Given the description of an element on the screen output the (x, y) to click on. 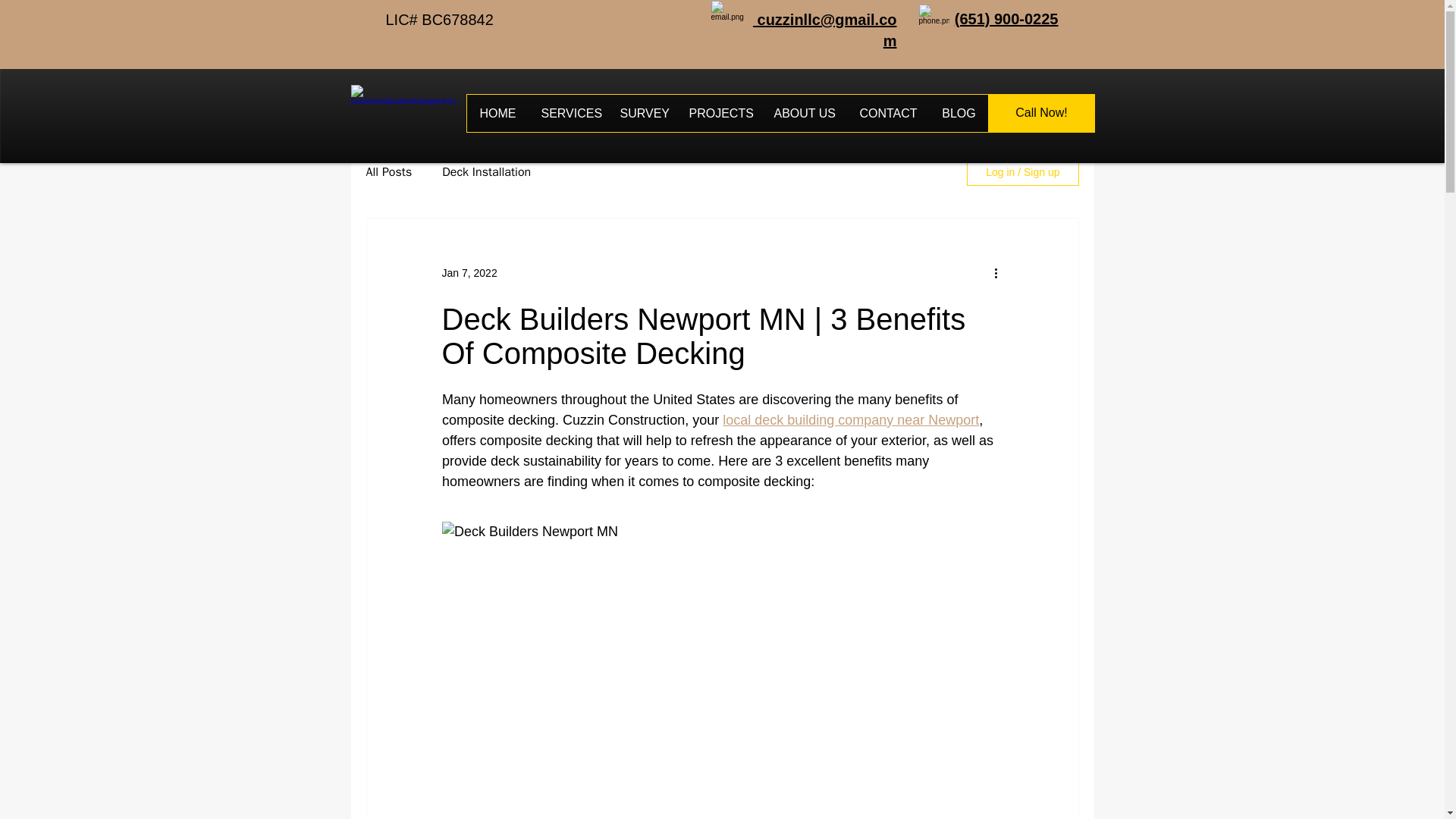
local deck building company near Newport (850, 419)
ABOUT US (803, 113)
Deck Installation (486, 171)
CONTACT (886, 113)
BLOG (959, 113)
SERVICES (568, 113)
All Posts (388, 171)
Call Now! (1041, 113)
PROJECTS (719, 113)
SURVEY (642, 113)
